Given the description of an element on the screen output the (x, y) to click on. 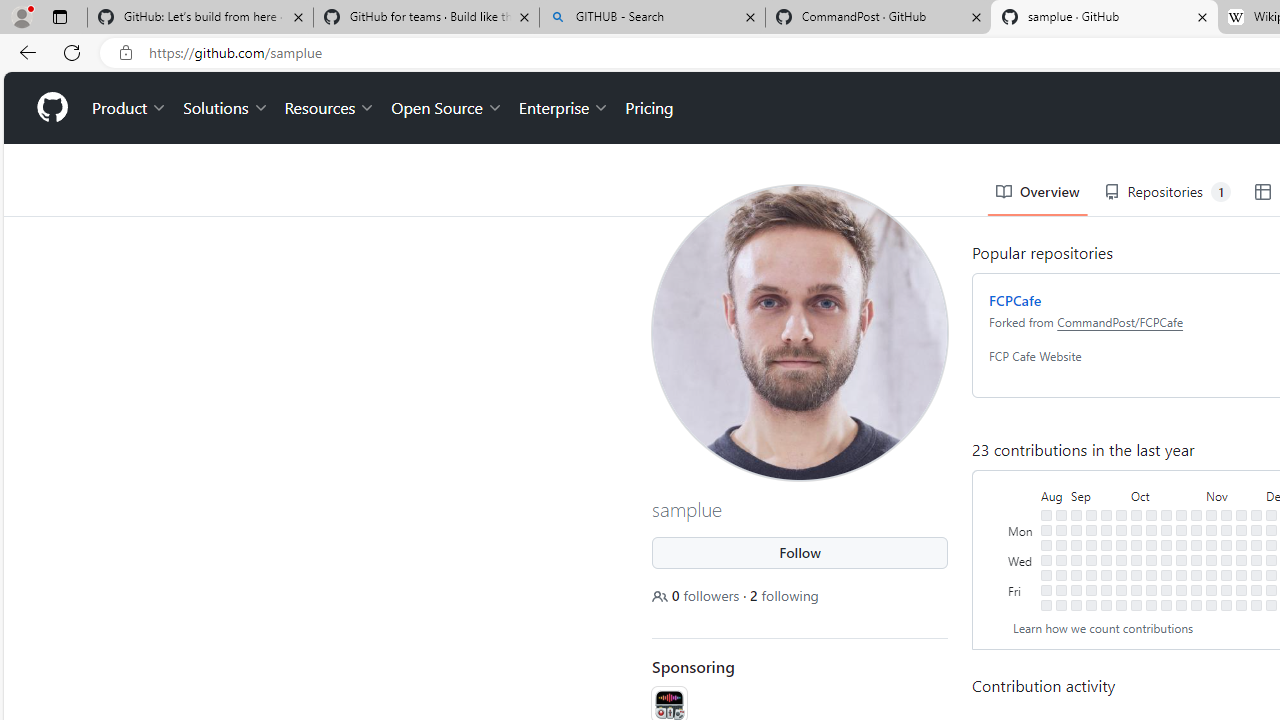
No contributions on September 13th. (1090, 559)
Product (130, 107)
No contributions on September 18th. (1106, 529)
No contributions on August 21st. (1046, 529)
No contributions on October 17th. (1166, 544)
Friday (1022, 589)
No contributions on November 7th. (1211, 544)
No contributions on September 1st. (1061, 589)
No contributions on October 21st. (1166, 605)
No contributions on October 10th. (1151, 544)
No contributions on November 16th. (1226, 574)
Repositories 1 (1167, 192)
No contributions on December 5th. (1271, 544)
CommandPost/FCPCafe (1120, 321)
